Given the description of an element on the screen output the (x, y) to click on. 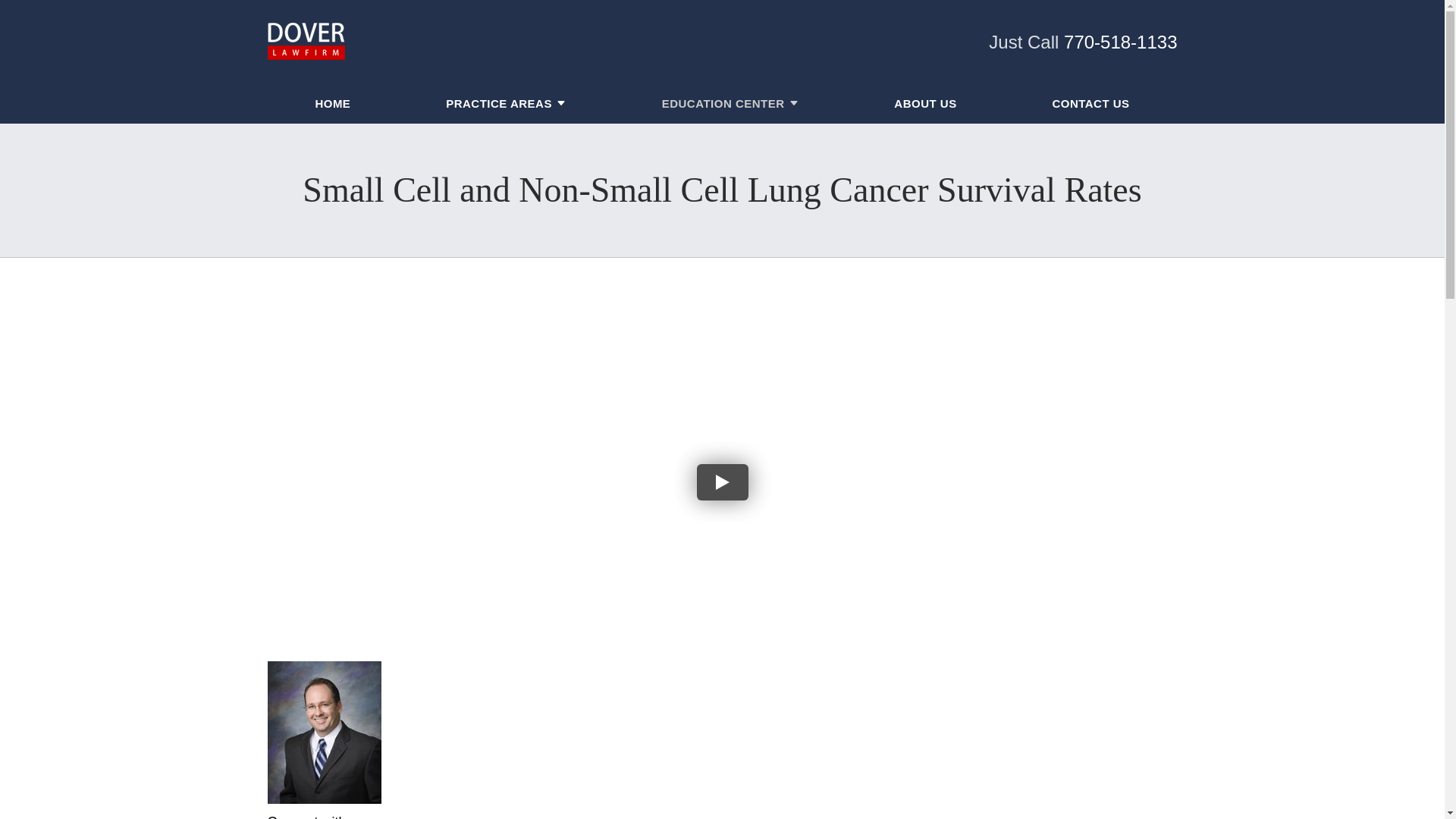
PRACTICE AREAS (498, 104)
EDUCATION CENTER (723, 104)
call local (1120, 41)
ABOUT US (924, 104)
HOME (332, 104)
770-518-1133 (1120, 41)
CONTACT US (1090, 104)
